Given the description of an element on the screen output the (x, y) to click on. 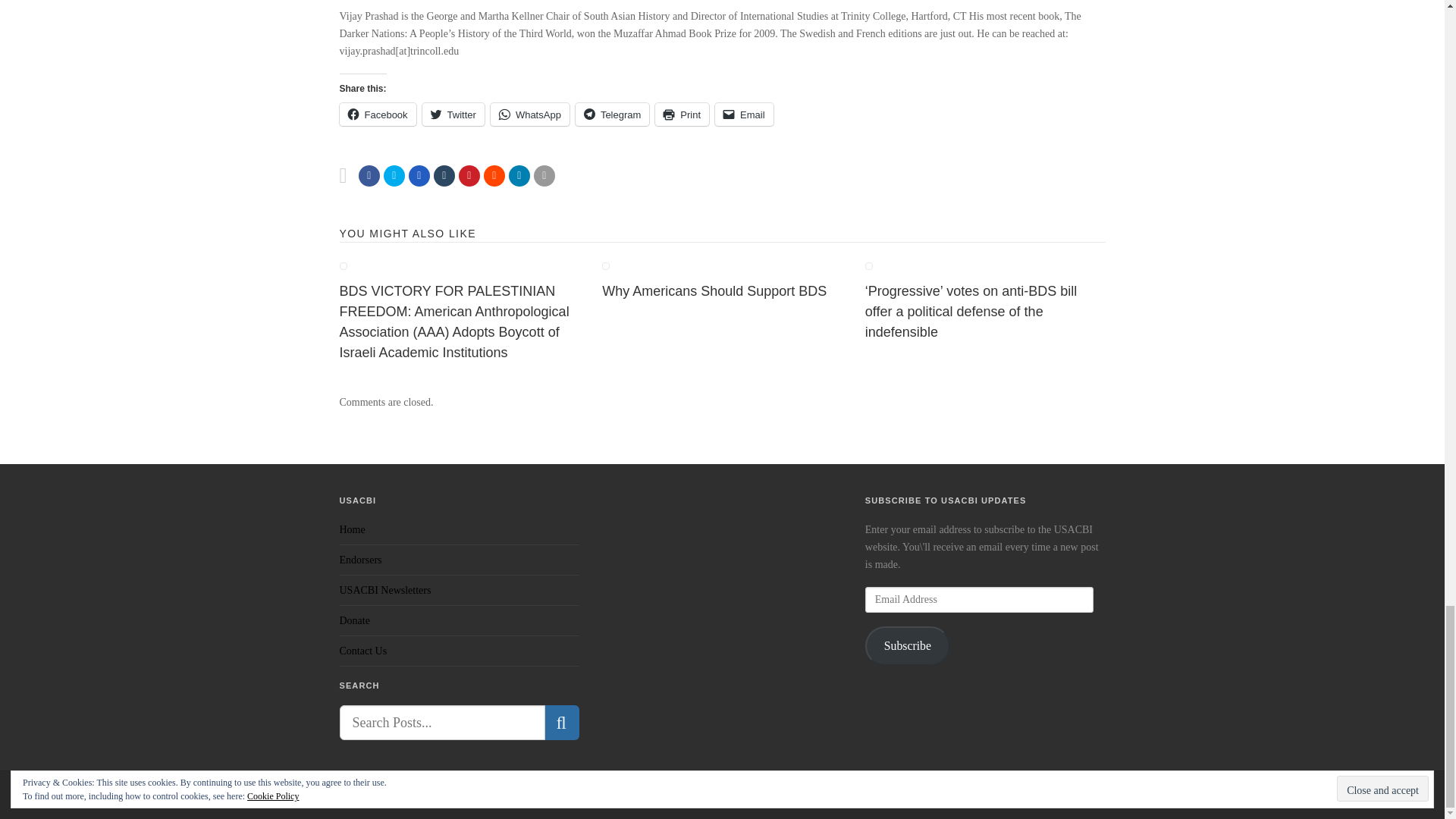
Click to share on Facebook (377, 114)
Tweet (394, 175)
Click to share on Twitter (453, 114)
Click to email a link to a friend (743, 114)
Post to Tumblr (443, 175)
Click to share on WhatsApp (529, 114)
Click to print (682, 114)
Share on Facebook (369, 175)
Pin it (469, 175)
Submit to Reddit (494, 175)
